Given the description of an element on the screen output the (x, y) to click on. 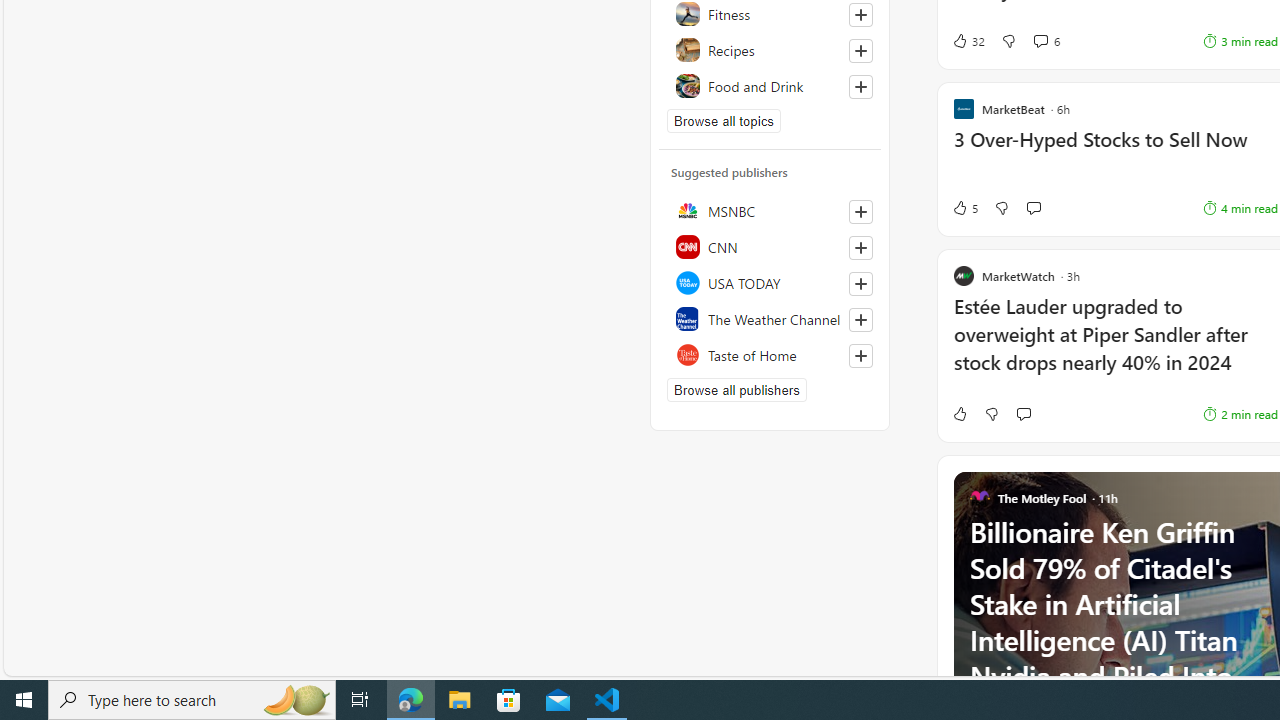
View comments 6 Comment (1040, 40)
5 Like (964, 208)
CNN (770, 246)
Browse all topics (724, 120)
Recipes (770, 49)
3 Over-Hyped Stocks to Sell Now (1115, 149)
Dislike (991, 413)
The Weather Channel (770, 318)
MSNBC (770, 210)
32 Like (968, 40)
